Given the description of an element on the screen output the (x, y) to click on. 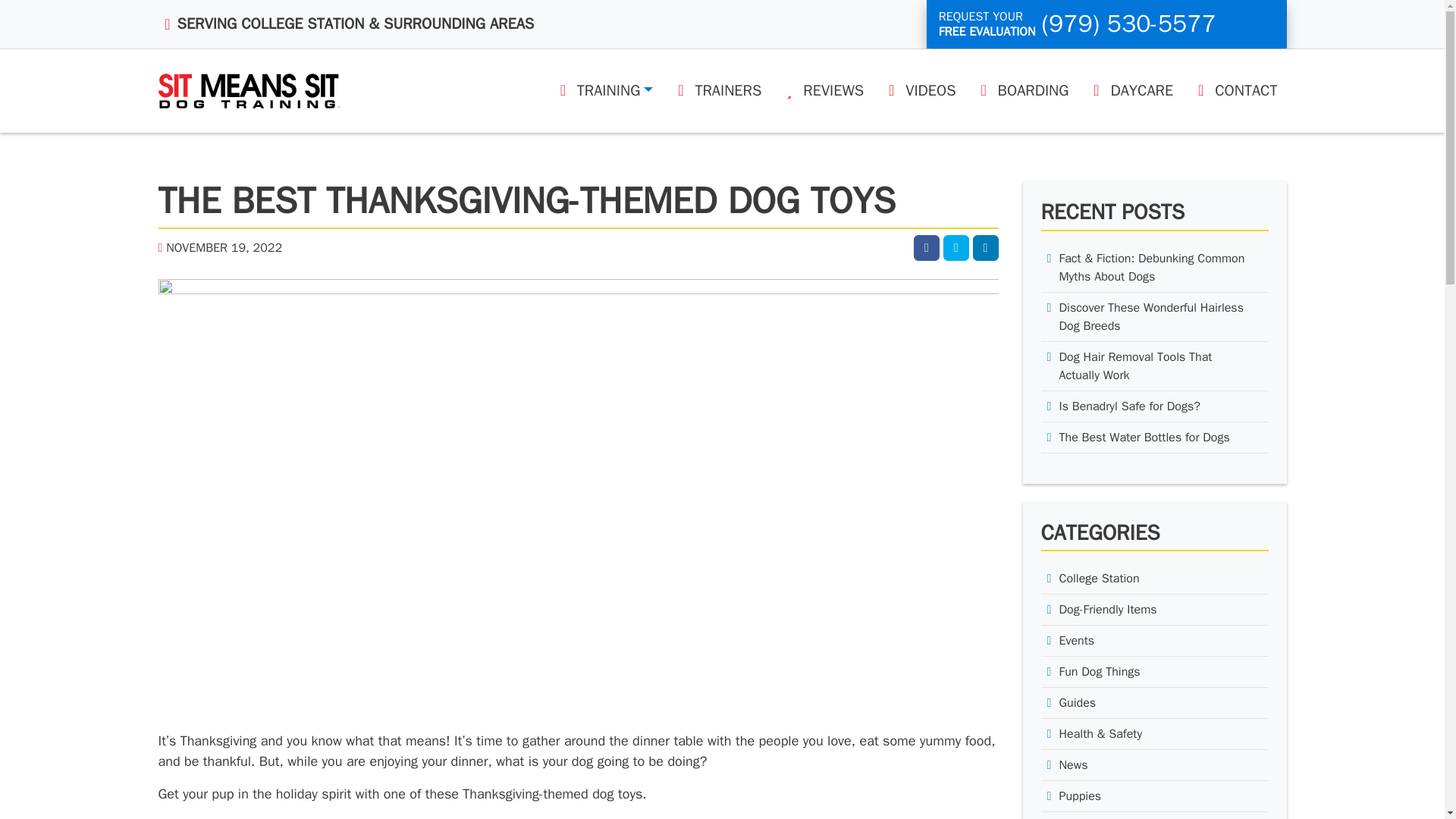
Is Benadryl Safe for Dogs? (1154, 406)
TRAINING (603, 90)
TRAINERS (716, 90)
FACEBOOK (926, 248)
Discover These Wonderful Hairless Dog Breeds (1154, 317)
LINKEDIN (984, 248)
CONTACT (1233, 90)
Dog Hair Removal Tools That Actually Work (1154, 366)
BOARDING (1021, 90)
VIDEOS (917, 90)
DAYCARE (1129, 90)
Contact (1106, 24)
TWITTER (956, 248)
REVIEWS (821, 90)
